Given the description of an element on the screen output the (x, y) to click on. 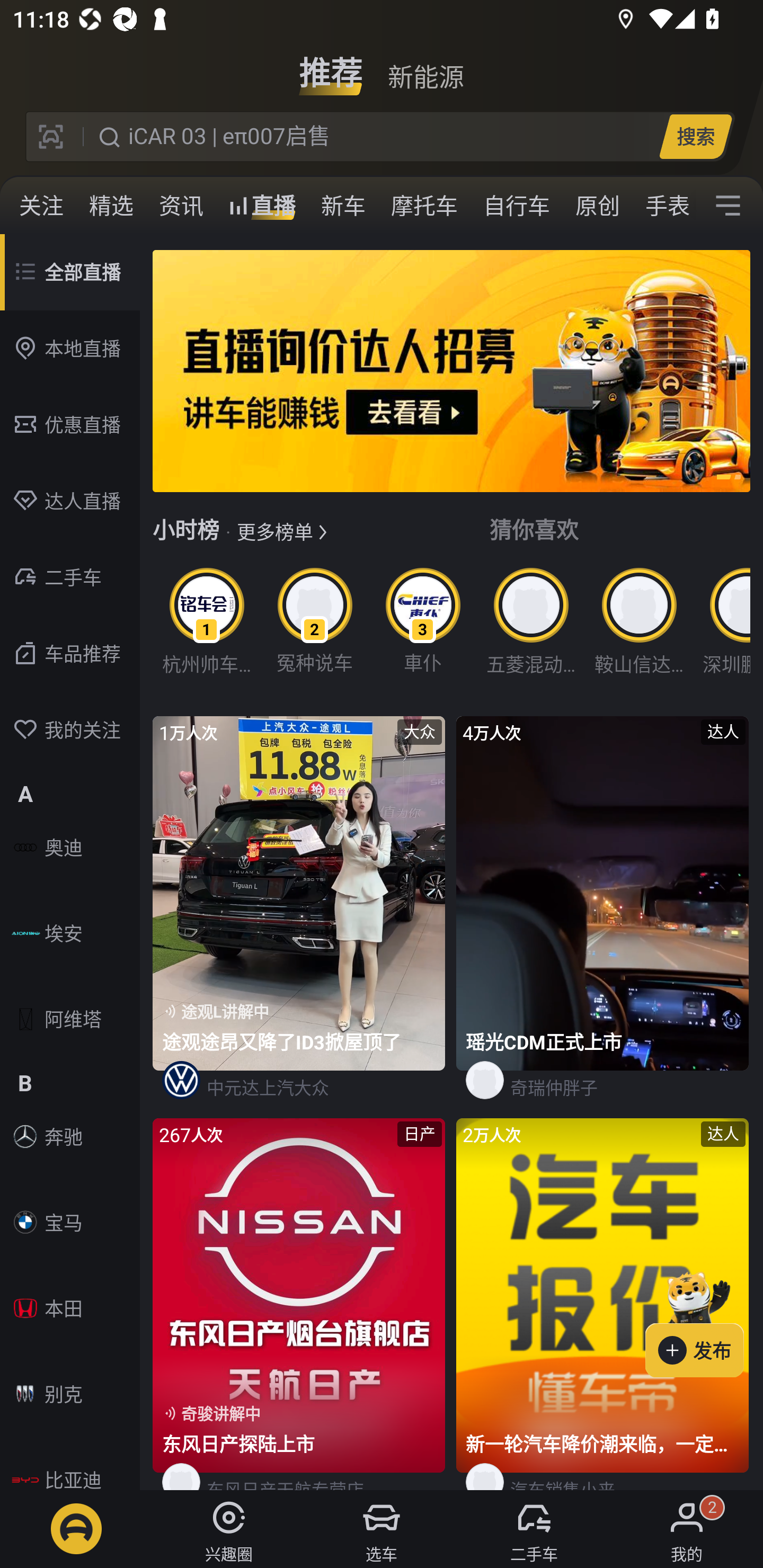
推荐 (330, 65)
新能源 (425, 65)
搜索 (695, 136)
关注 (41, 205)
精选 (111, 205)
资讯 (180, 205)
直播 (261, 205)
新车 (343, 205)
摩托车 (424, 205)
自行车 (516, 205)
原创 (597, 205)
手表 (663, 205)
 (727, 205)
全部直播 (69, 271)
本地直播 (69, 348)
优惠直播 (69, 424)
达人直播 (69, 500)
· 更多榜单  (275, 531)
二手车 (69, 577)
1 杭州帅车超豪 (206, 618)
2 冤种说车 (314, 617)
3 車仆 (422, 617)
五菱混动荆州体验中心 (530, 618)
鞍山信达通长安汽车 (638, 618)
深圳鹏峰广汽丰田4s店 (721, 618)
车品推荐 (69, 653)
我的关注 (69, 729)
1 万人次 大众  途观L讲解中 途观途昂又降了ID3掀屋顶了 中元达上汽大众 (299, 916)
4 万人次 达人 瑶光CDM正式上市 奇瑞仲胖子 (603, 916)
奥迪 (69, 847)
埃安 (69, 933)
阿维塔 (69, 1018)
奔驰 (69, 1136)
267 人次 日产  奇骏讲解中 东风日产探陆上市 东风日产天航专营店 (299, 1303)
2 万人次 达人 新一轮汽车降价潮来临，一定要把握机会 汽车销售小来 (603, 1303)
宝马 (69, 1221)
发布 (704, 1320)
本田 (69, 1308)
别克 (69, 1394)
比亚迪 (69, 1465)
 兴趣圈 (228, 1528)
 选车 (381, 1528)
 二手车 (533, 1528)
 我的 (686, 1528)
